Given the description of an element on the screen output the (x, y) to click on. 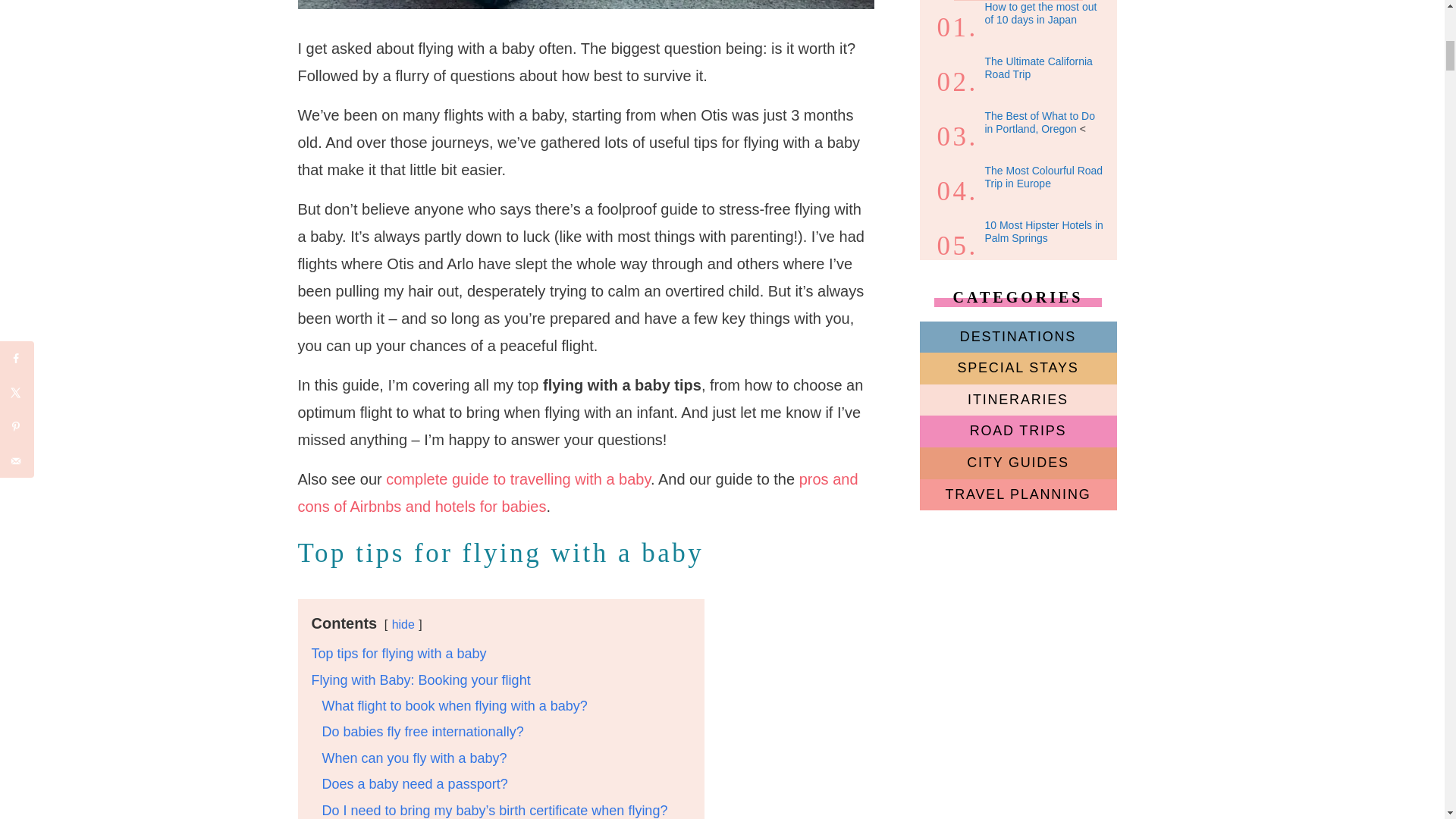
pros and cons of Airbnbs and hotels for babies (577, 492)
complete guide to travelling with a baby (517, 478)
hide (402, 624)
